Given the description of an element on the screen output the (x, y) to click on. 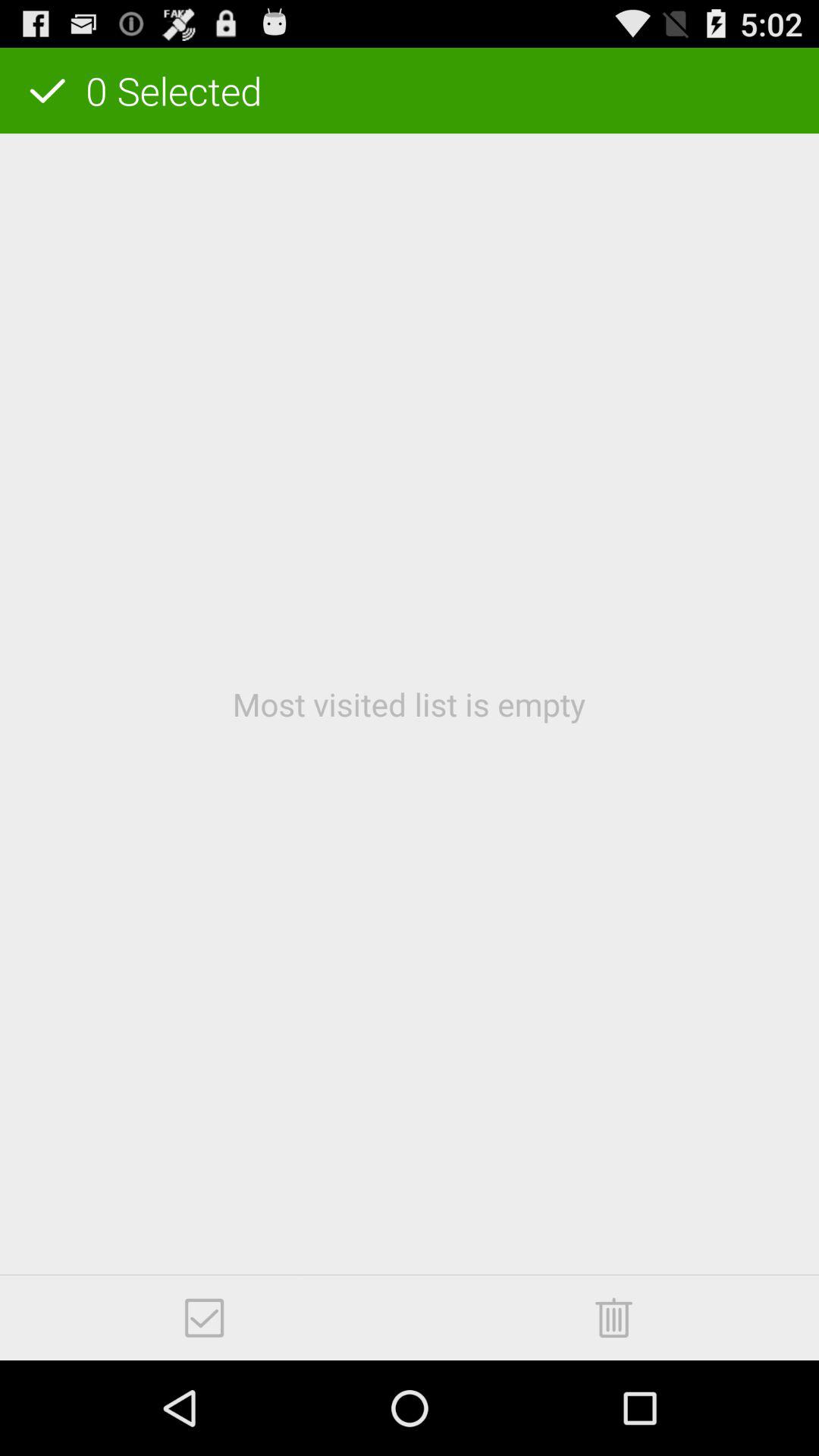
go to delete (613, 1317)
